Given the description of an element on the screen output the (x, y) to click on. 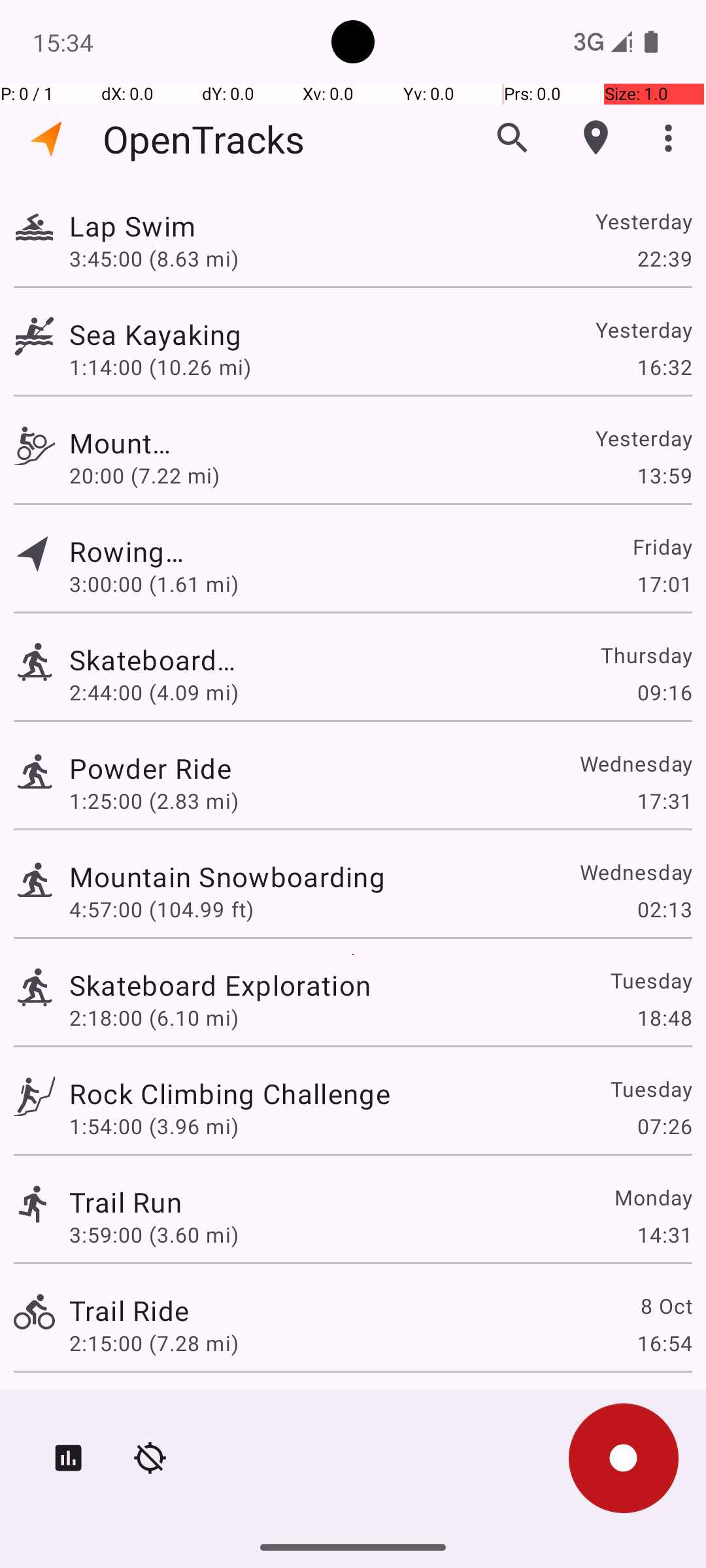
Lap Swim Element type: android.widget.TextView (219, 225)
3:45:00 (8.63 mi) Element type: android.widget.TextView (153, 258)
22:39 Element type: android.widget.TextView (664, 258)
Sea Kayaking Element type: android.widget.TextView (229, 333)
1:14:00 (10.26 mi) Element type: android.widget.TextView (159, 366)
16:32 Element type: android.widget.TextView (664, 366)
Mountain Biking Excursion Element type: android.widget.TextView (125, 442)
20:00 (7.22 mi) Element type: android.widget.TextView (153, 475)
13:59 Element type: android.widget.TextView (664, 475)
Rowing Adventure Element type: android.widget.TextView (128, 550)
3:00:00 (1.61 mi) Element type: android.widget.TextView (153, 583)
17:01 Element type: android.widget.TextView (664, 583)
Skateboard Exploration Element type: android.widget.TextView (162, 659)
2:44:00 (4.09 mi) Element type: android.widget.TextView (160, 692)
09:16 Element type: android.widget.TextView (664, 692)
Powder Ride Element type: android.widget.TextView (150, 767)
1:25:00 (2.83 mi) Element type: android.widget.TextView (153, 800)
17:31 Element type: android.widget.TextView (664, 800)
Mountain Snowboarding Element type: android.widget.TextView (226, 876)
4:57:00 (104.99 ft) Element type: android.widget.TextView (161, 909)
02:13 Element type: android.widget.TextView (664, 909)
2:18:00 (6.10 mi) Element type: android.widget.TextView (153, 1017)
18:48 Element type: android.widget.TextView (664, 1017)
Rock Climbing Challenge Element type: android.widget.TextView (229, 1092)
1:54:00 (3.96 mi) Element type: android.widget.TextView (153, 1125)
07:26 Element type: android.widget.TextView (664, 1125)
Trail Run Element type: android.widget.TextView (125, 1201)
3:59:00 (3.60 mi) Element type: android.widget.TextView (153, 1234)
14:31 Element type: android.widget.TextView (664, 1234)
Trail Ride Element type: android.widget.TextView (128, 1309)
8 Oct Element type: android.widget.TextView (665, 1305)
2:15:00 (7.28 mi) Element type: android.widget.TextView (153, 1342)
16:54 Element type: android.widget.TextView (664, 1342)
Mountain Hike Element type: android.widget.TextView (162, 1408)
